Given the description of an element on the screen output the (x, y) to click on. 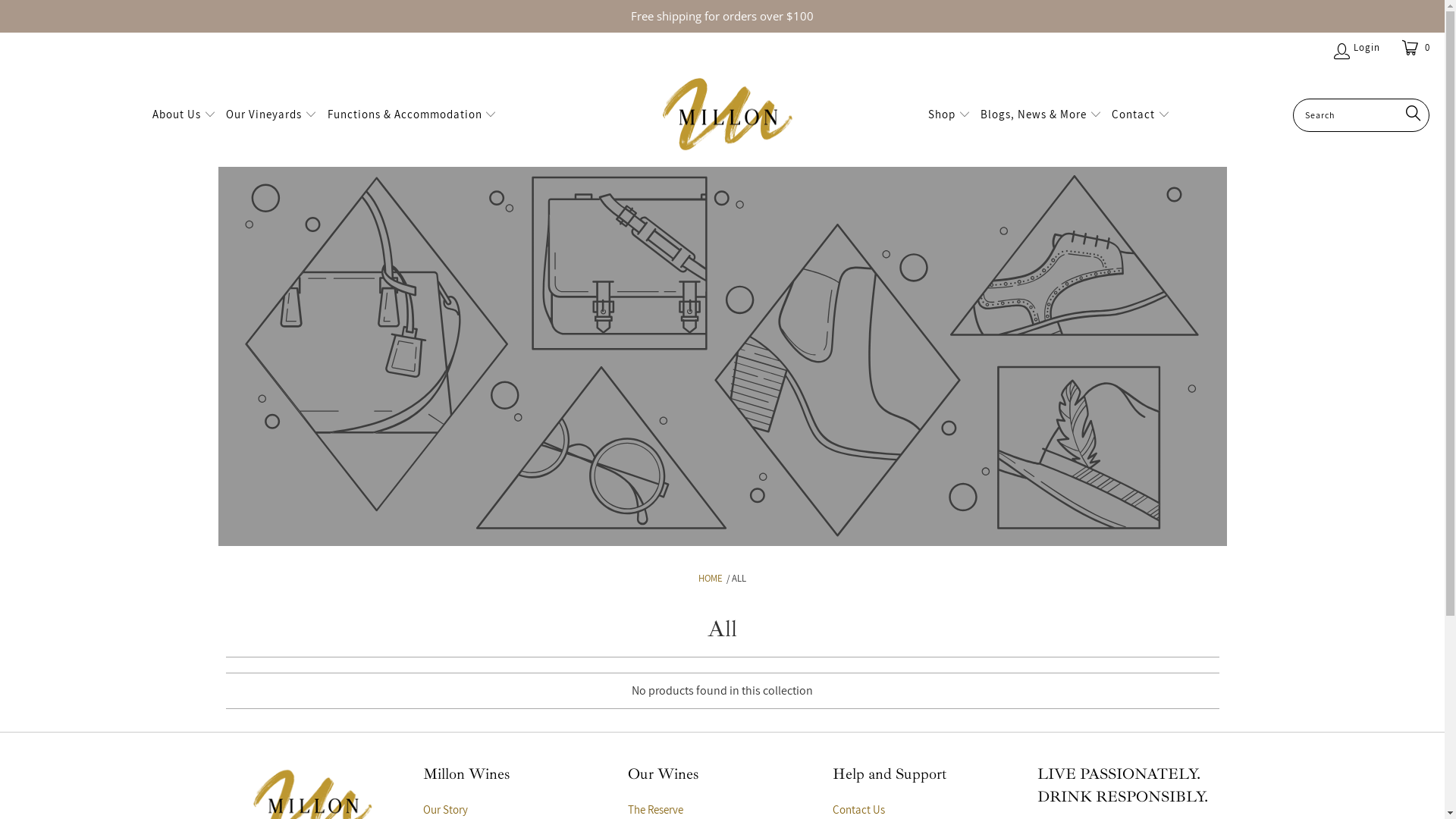
Login Element type: text (1355, 47)
ALL Element type: text (738, 577)
The Reserve Element type: text (655, 809)
0 Element type: text (1417, 47)
HOME Element type: text (710, 577)
Contact Us Element type: text (858, 809)
Millon Wines Element type: hover (727, 115)
Our Story Element type: text (445, 809)
